Given the description of an element on the screen output the (x, y) to click on. 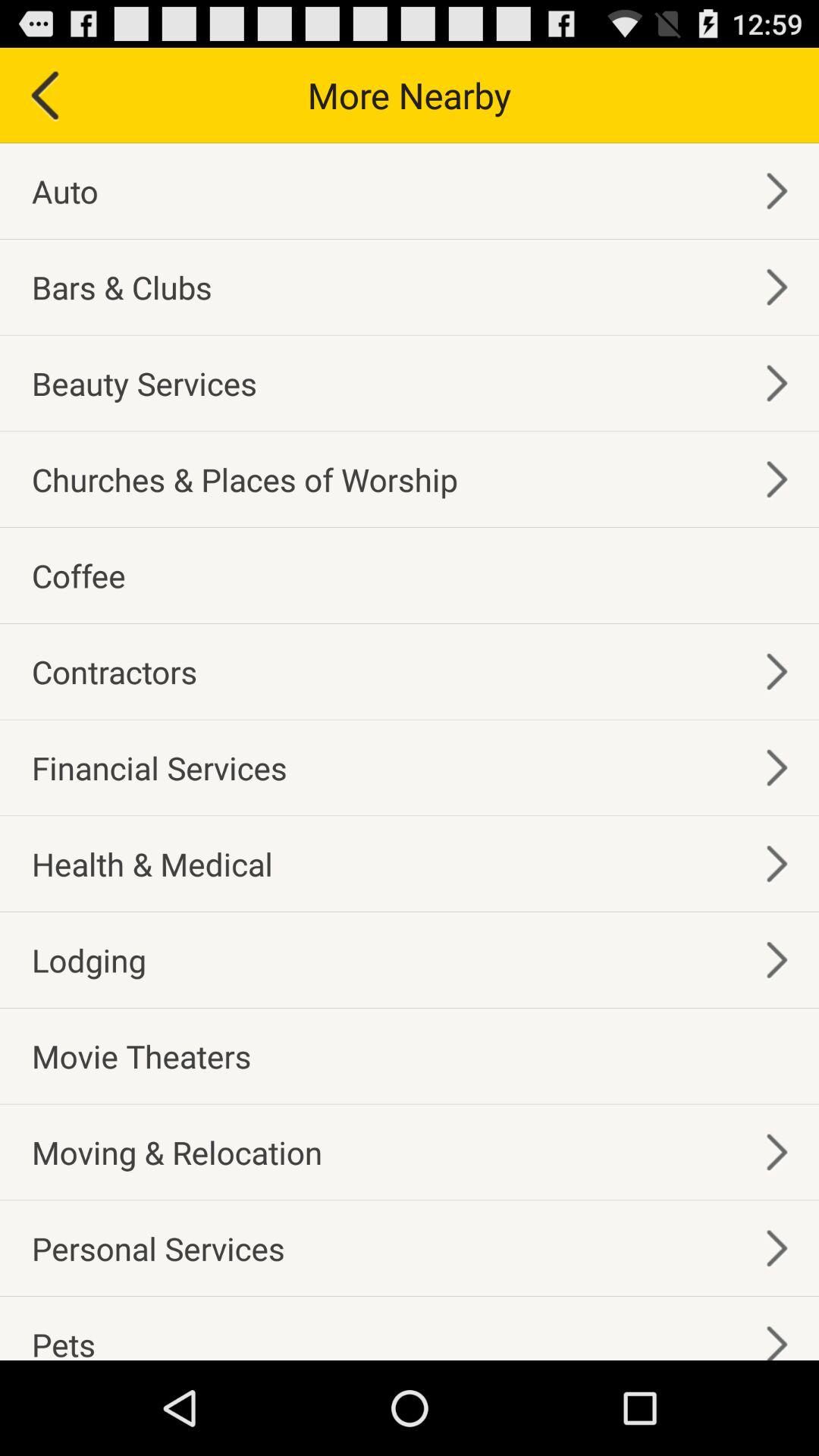
open auto (64, 190)
